Given the description of an element on the screen output the (x, y) to click on. 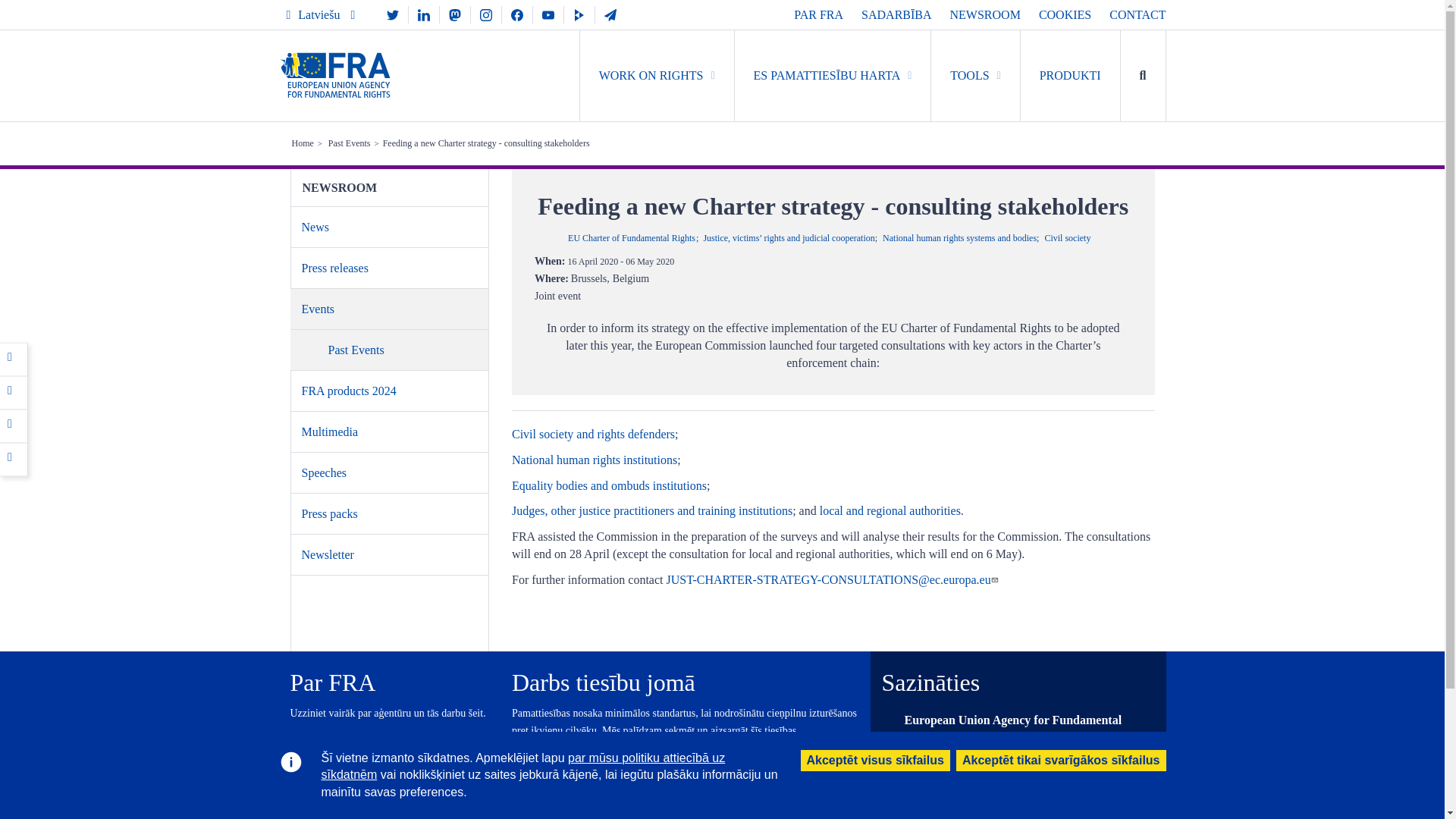
Facebook (13, 358)
Instagram (485, 13)
Twitter (13, 390)
FRA's LinkedIn channel (424, 13)
PeerTube (579, 13)
FRA's YouTube channel (547, 13)
FRA's Twitter channel (392, 13)
LinkedIn (13, 424)
Subscribe to FRA's newsletter (610, 13)
